Given the description of an element on the screen output the (x, y) to click on. 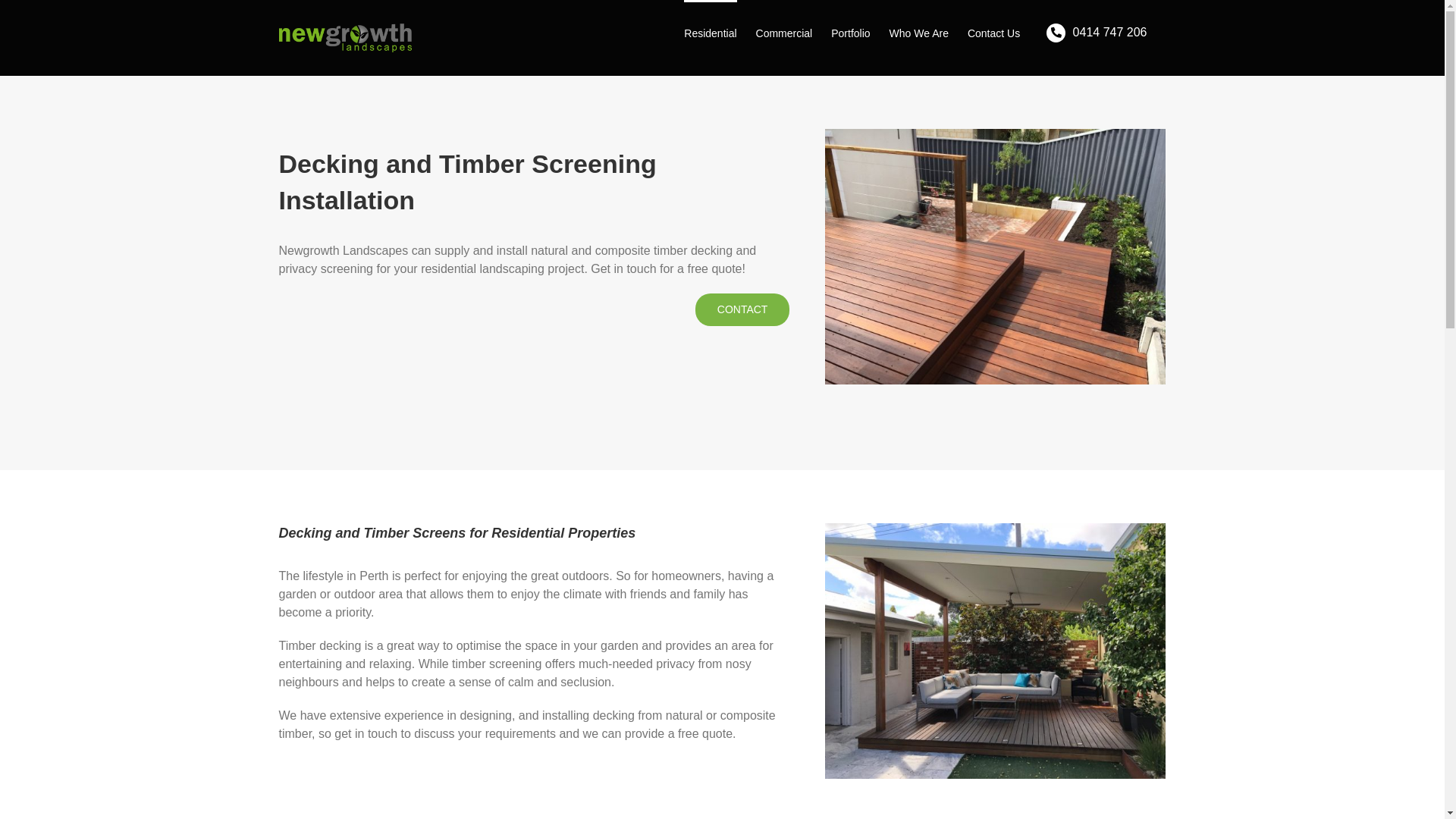
Portfolio Element type: text (850, 31)
Newgrowth-26 Element type: hover (995, 256)
Residential Element type: text (710, 31)
Newgrowth-75 Element type: hover (995, 650)
0414 747 206 Element type: text (1092, 31)
Who We Are Element type: text (918, 31)
CONTACT Element type: text (742, 309)
Commercial Element type: text (784, 31)
Contact Us Element type: text (993, 31)
